Given the description of an element on the screen output the (x, y) to click on. 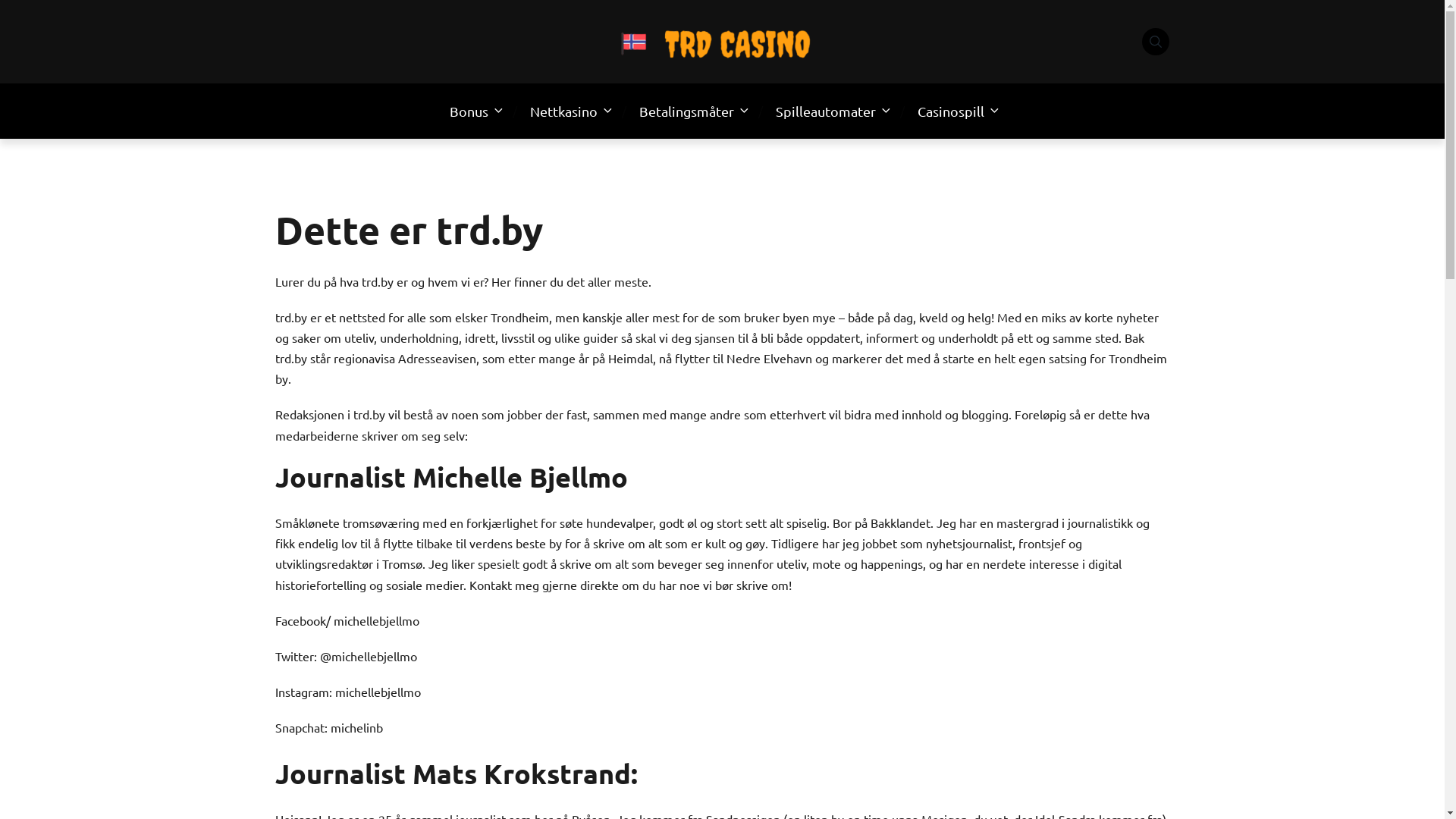
Casinospill Element type: text (950, 110)
Bonus Element type: text (467, 110)
Spilleautomater Element type: text (825, 110)
Nettkasino Element type: text (562, 110)
